Given the description of an element on the screen output the (x, y) to click on. 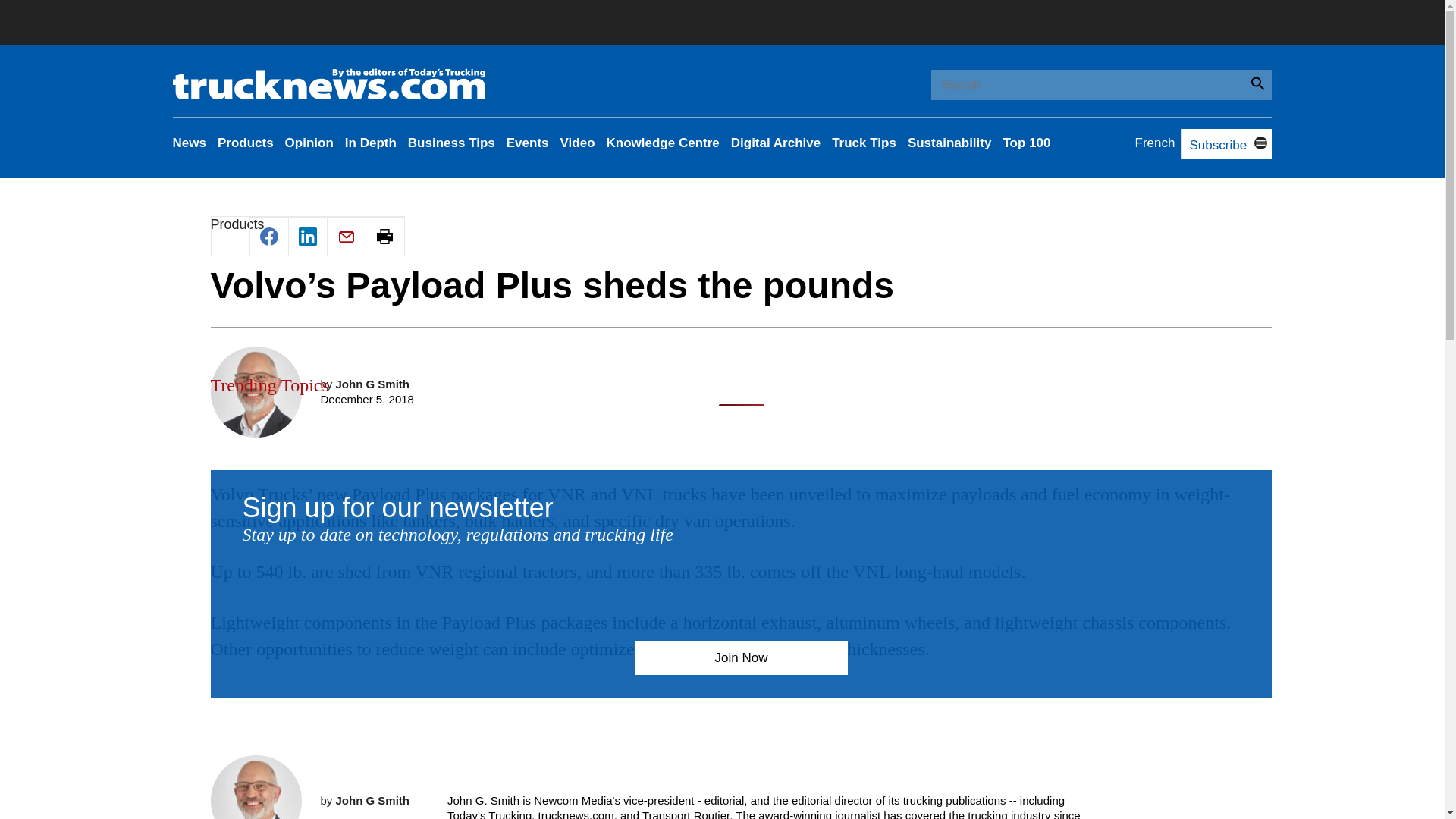
Products (244, 142)
French (1154, 142)
Subscribe (1213, 145)
Top 100 (1026, 142)
Opinion (309, 142)
Digital Archive (775, 142)
News (189, 142)
Events (527, 142)
Video (577, 142)
Knowledge Centre (663, 142)
